Given the description of an element on the screen output the (x, y) to click on. 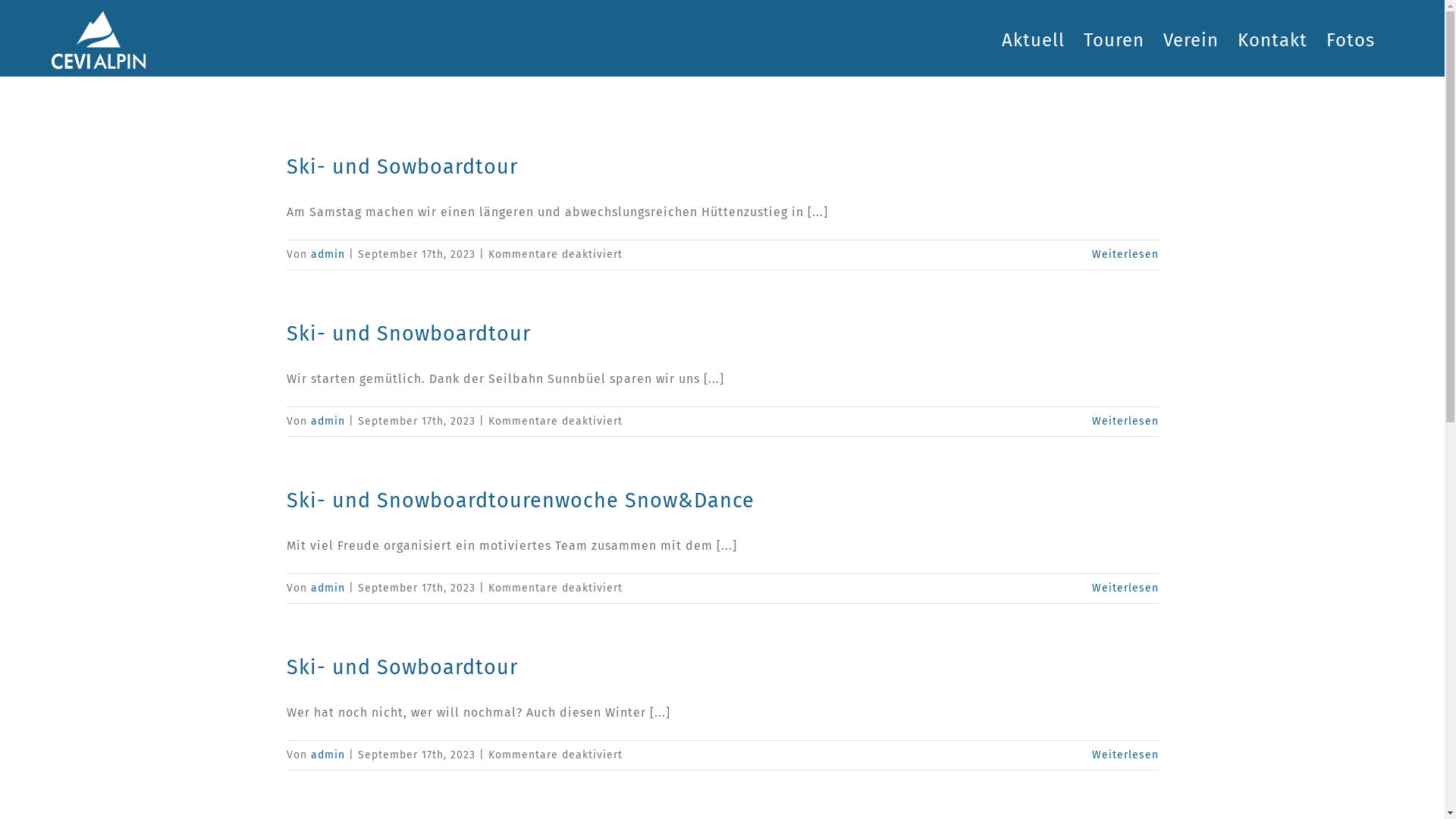
Weiterlesen Element type: text (1125, 420)
Verein Element type: text (1190, 37)
admin Element type: text (327, 253)
Weiterlesen Element type: text (1125, 754)
Ski- und Sowboardtour Element type: text (401, 667)
Ski- und Snowboardtourenwoche Snow&Dance Element type: text (520, 500)
admin Element type: text (327, 754)
Fotos Element type: text (1350, 37)
Weiterlesen Element type: text (1125, 587)
Touren Element type: text (1113, 37)
Aktuell Element type: text (1032, 37)
admin Element type: text (327, 587)
Weiterlesen Element type: text (1125, 253)
Ski- und Snowboardtour Element type: text (408, 333)
Kontakt Element type: text (1272, 37)
admin Element type: text (327, 420)
Ski- und Sowboardtour Element type: text (401, 166)
